Given the description of an element on the screen output the (x, y) to click on. 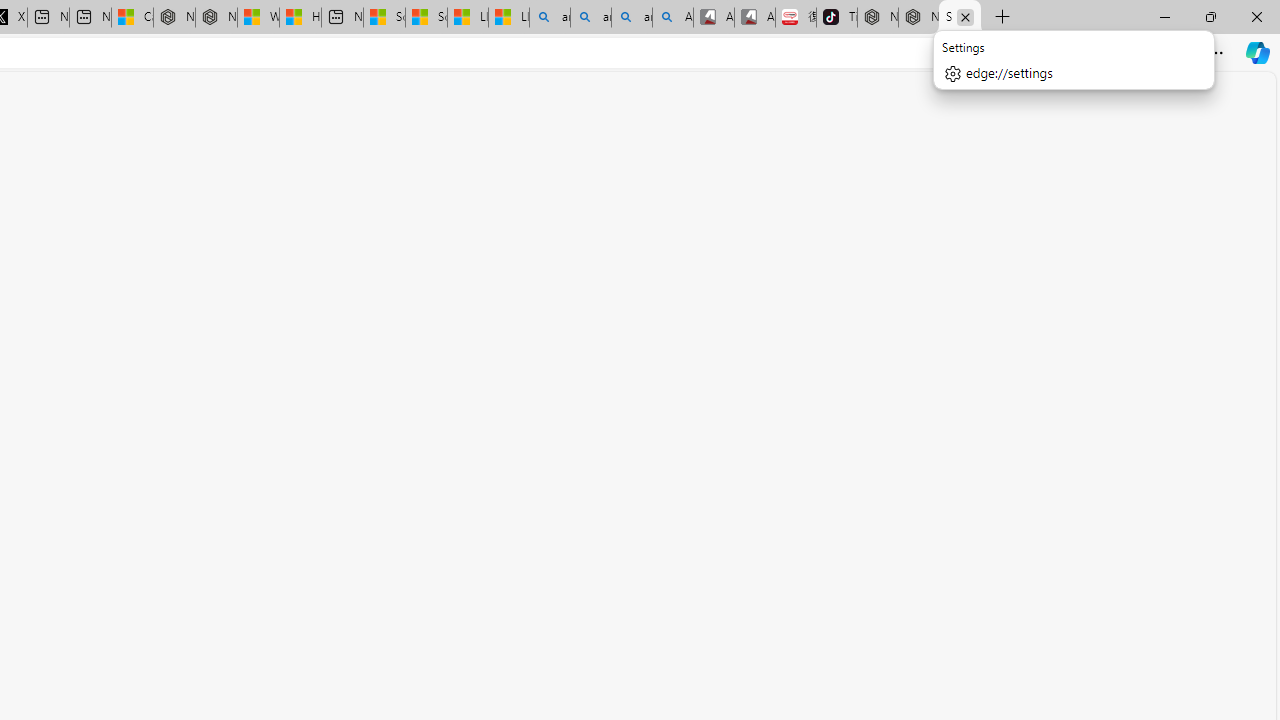
Settings (959, 17)
Huge shark washes ashore at New York City beach | Watch (300, 17)
Nordace Siena Pro 15 Backpack (918, 17)
Amazon Echo Robot - Search Images (672, 17)
